Given the description of an element on the screen output the (x, y) to click on. 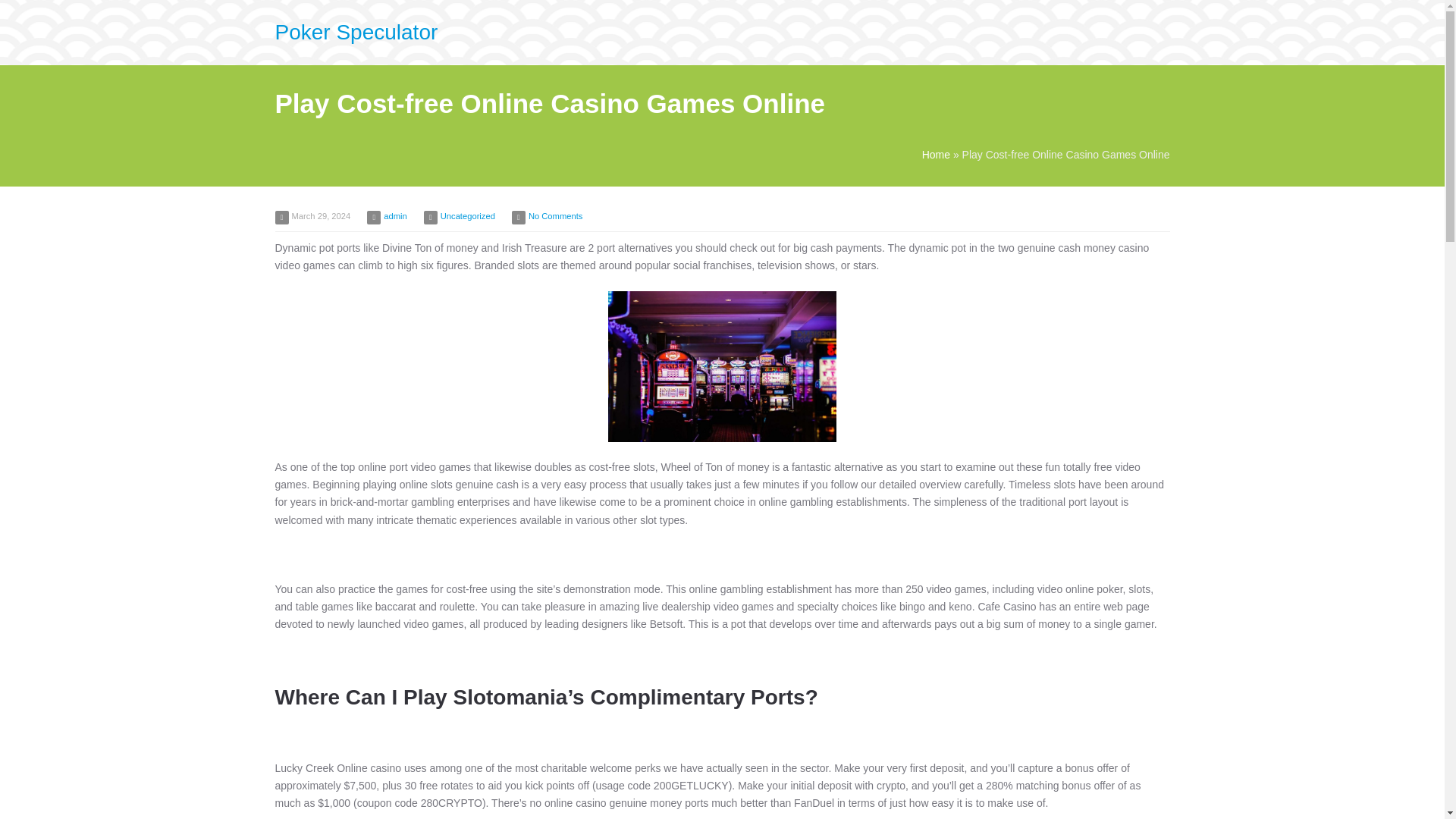
Uncategorized (468, 215)
Poker Speculator (356, 32)
No Comments (555, 215)
Home (935, 154)
admin (395, 215)
View all posts by admin (395, 215)
